Given the description of an element on the screen output the (x, y) to click on. 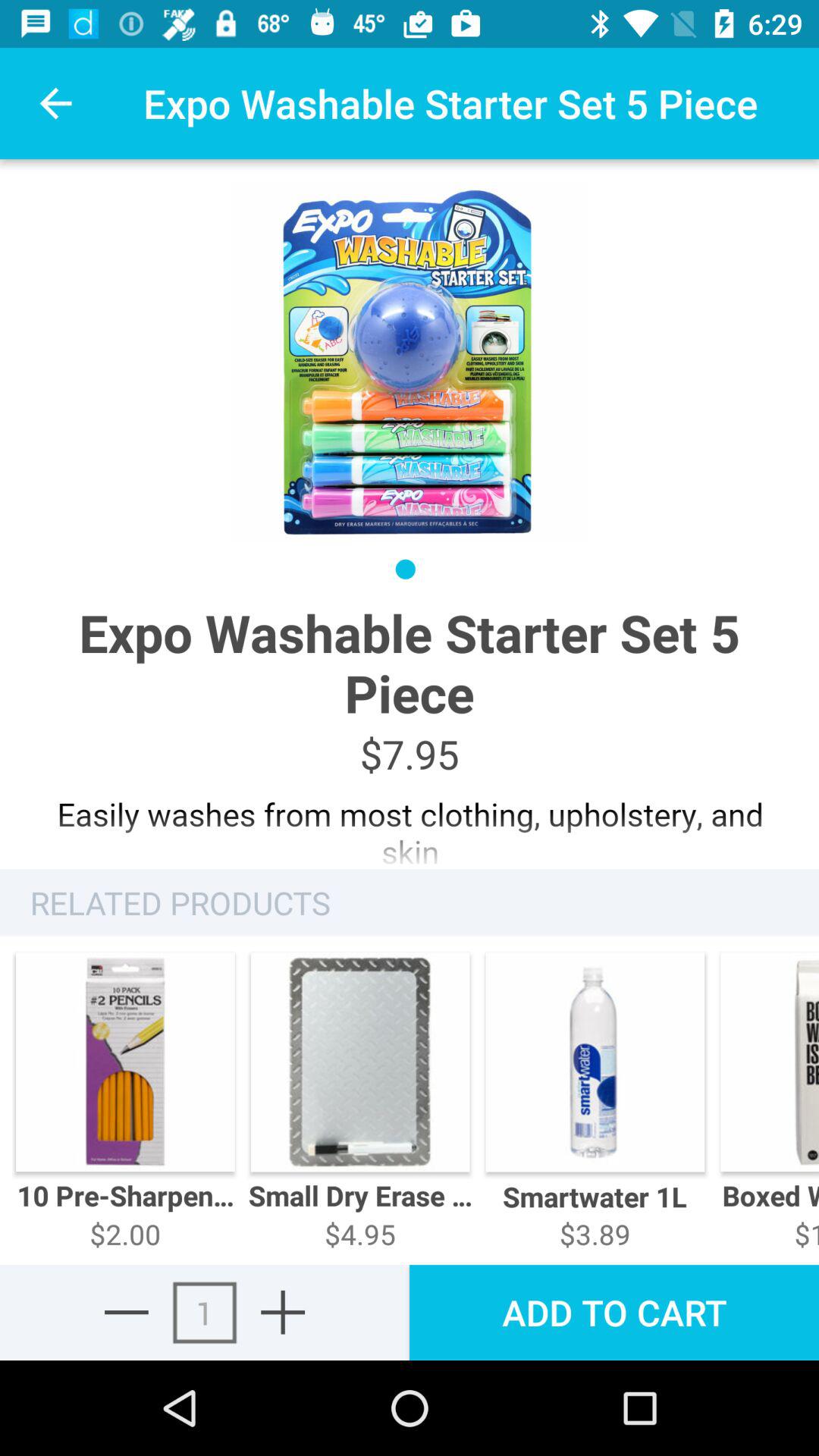
advertisement page (409, 824)
